Given the description of an element on the screen output the (x, y) to click on. 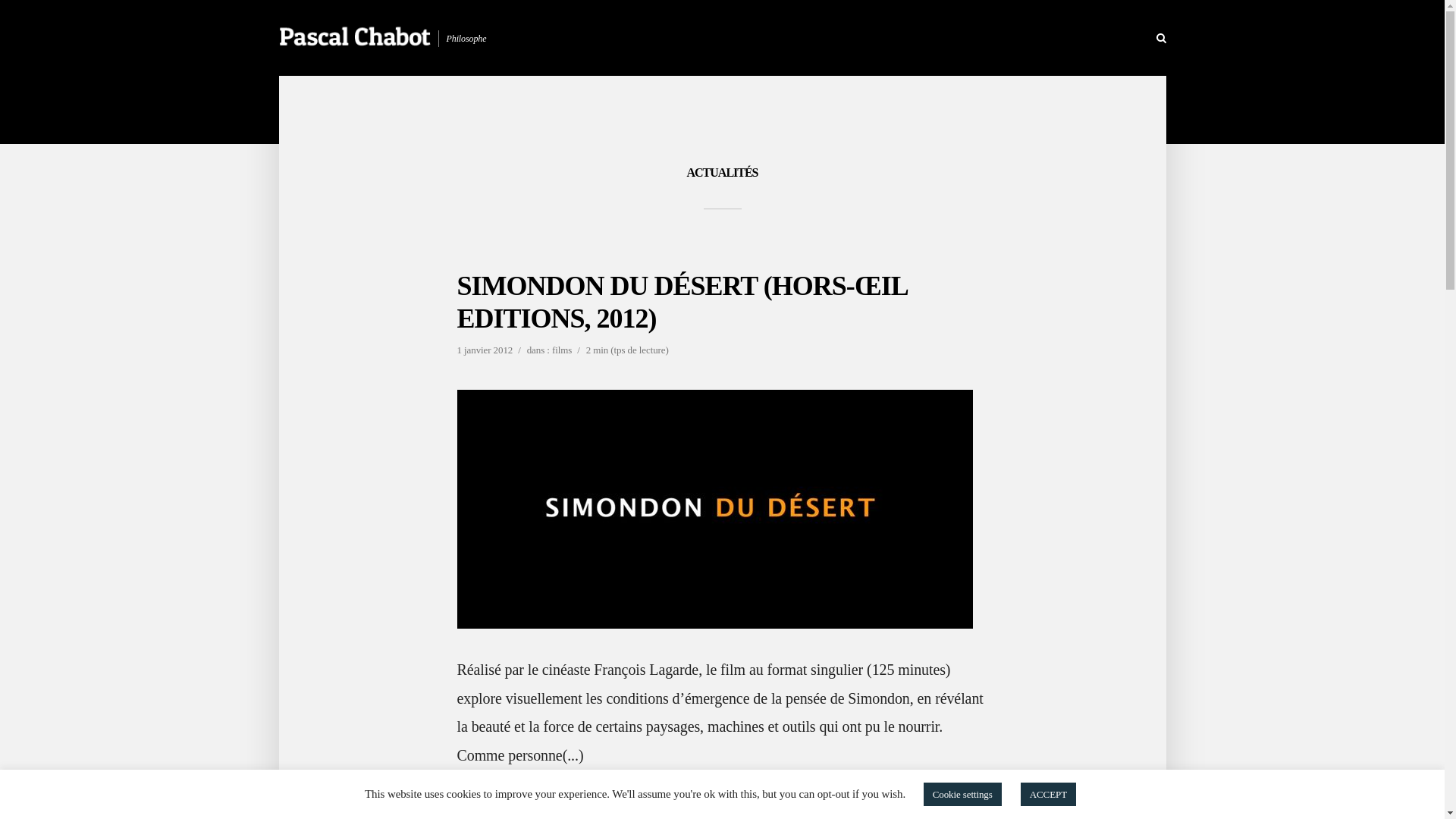
ACCEPT Element type: text (1048, 794)
films Element type: text (561, 351)
Cookie settings Element type: text (962, 794)
